Given the description of an element on the screen output the (x, y) to click on. 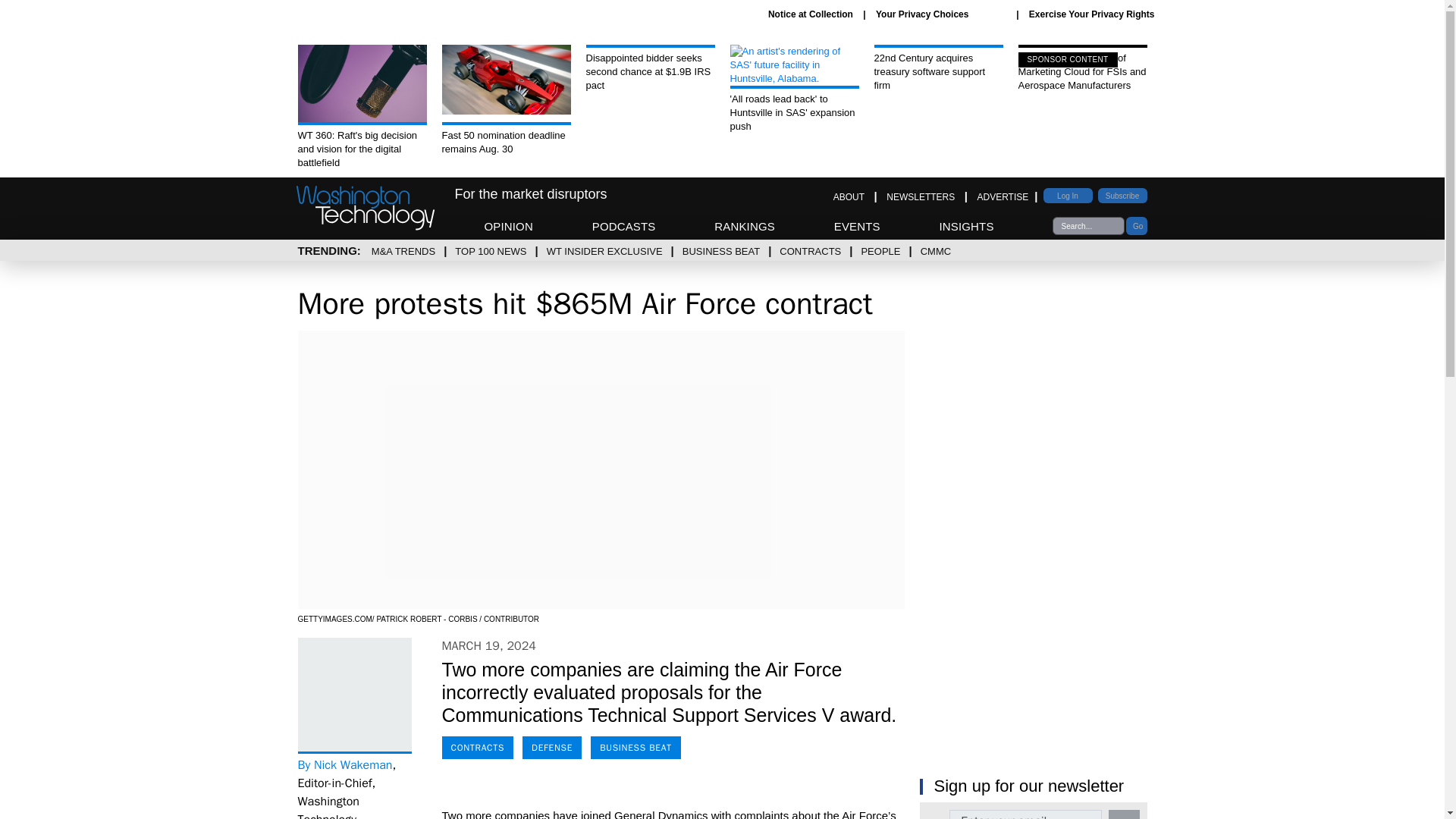
Notice at Collection (810, 14)
22nd Century acquires treasury software support firm (938, 68)
RANKINGS (744, 226)
ABOUT (848, 196)
EVENTS (857, 226)
OPINION (507, 226)
Exercise Your Privacy Rights (1091, 14)
NEWSLETTERS (920, 196)
PODCASTS (624, 226)
